Given the description of an element on the screen output the (x, y) to click on. 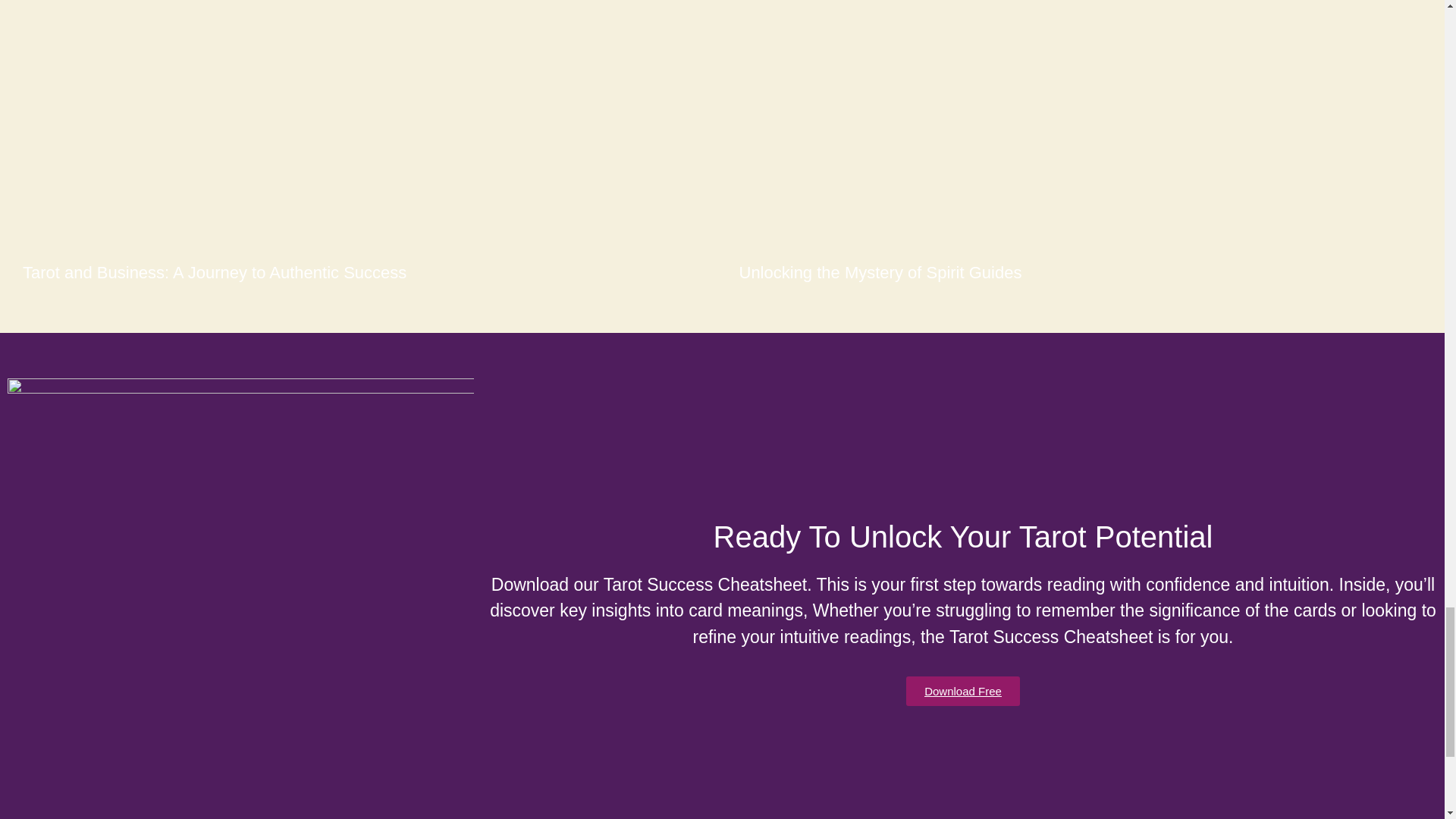
Download Free (962, 690)
Unlocking the Mystery of Spirit Guides (880, 272)
Tarot and Business: A Journey to Authentic Success (214, 272)
